Given the description of an element on the screen output the (x, y) to click on. 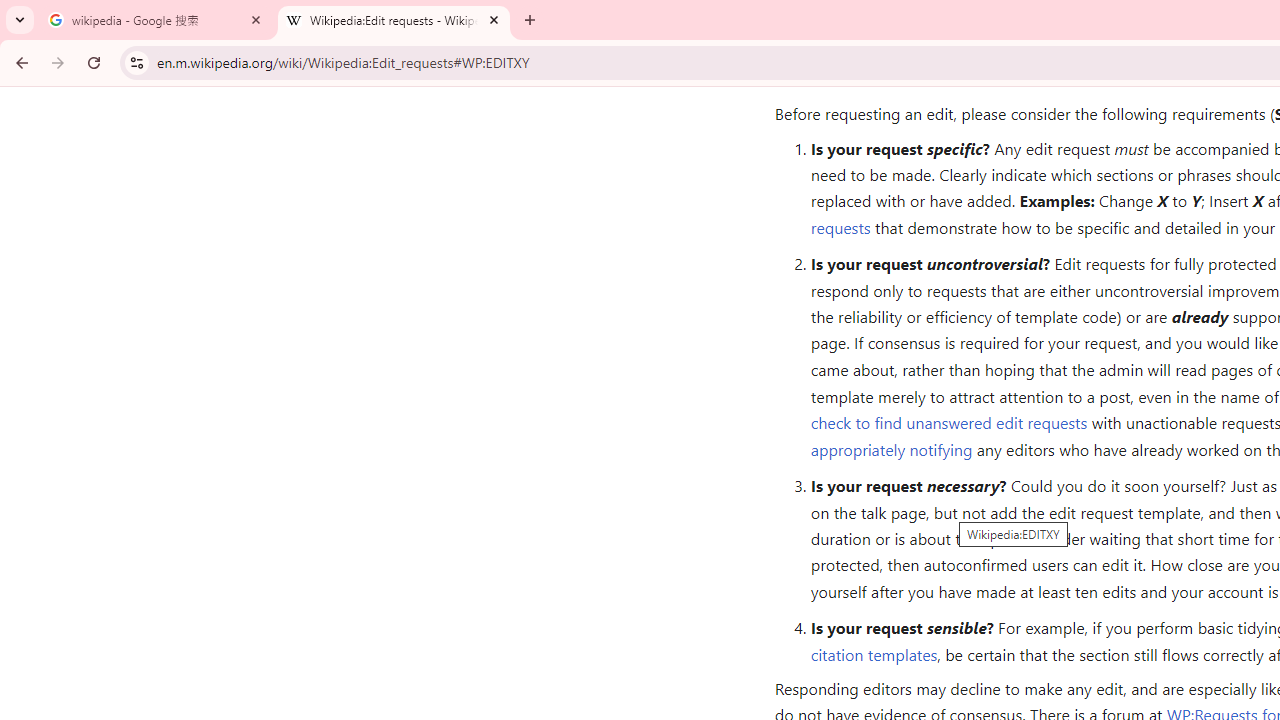
appropriately notifying (891, 448)
citation templates (874, 653)
Wikipedia:Edit requests - Wikipedia (394, 20)
